Given the description of an element on the screen output the (x, y) to click on. 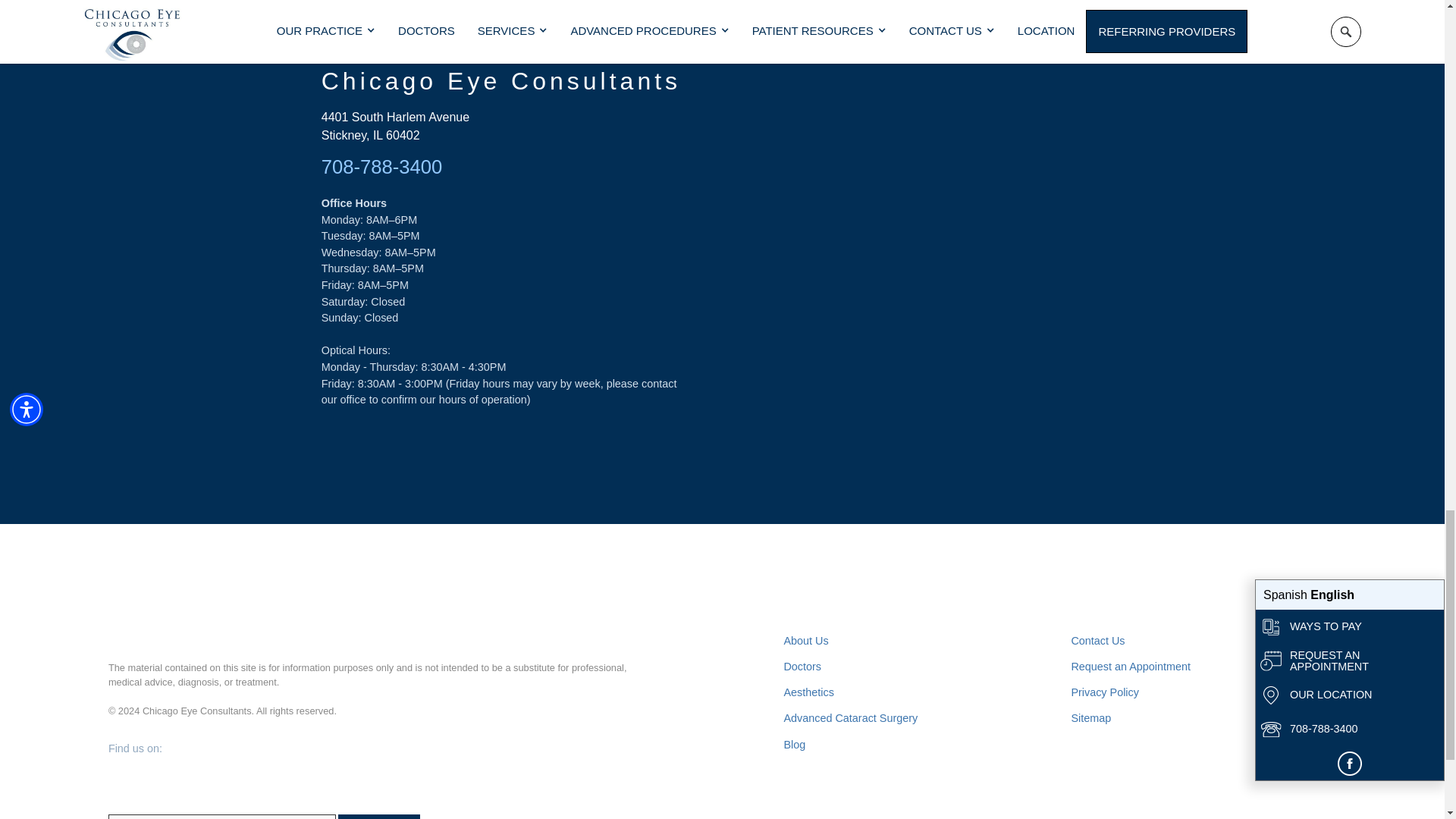
Search (378, 816)
Search (378, 816)
